Given the description of an element on the screen output the (x, y) to click on. 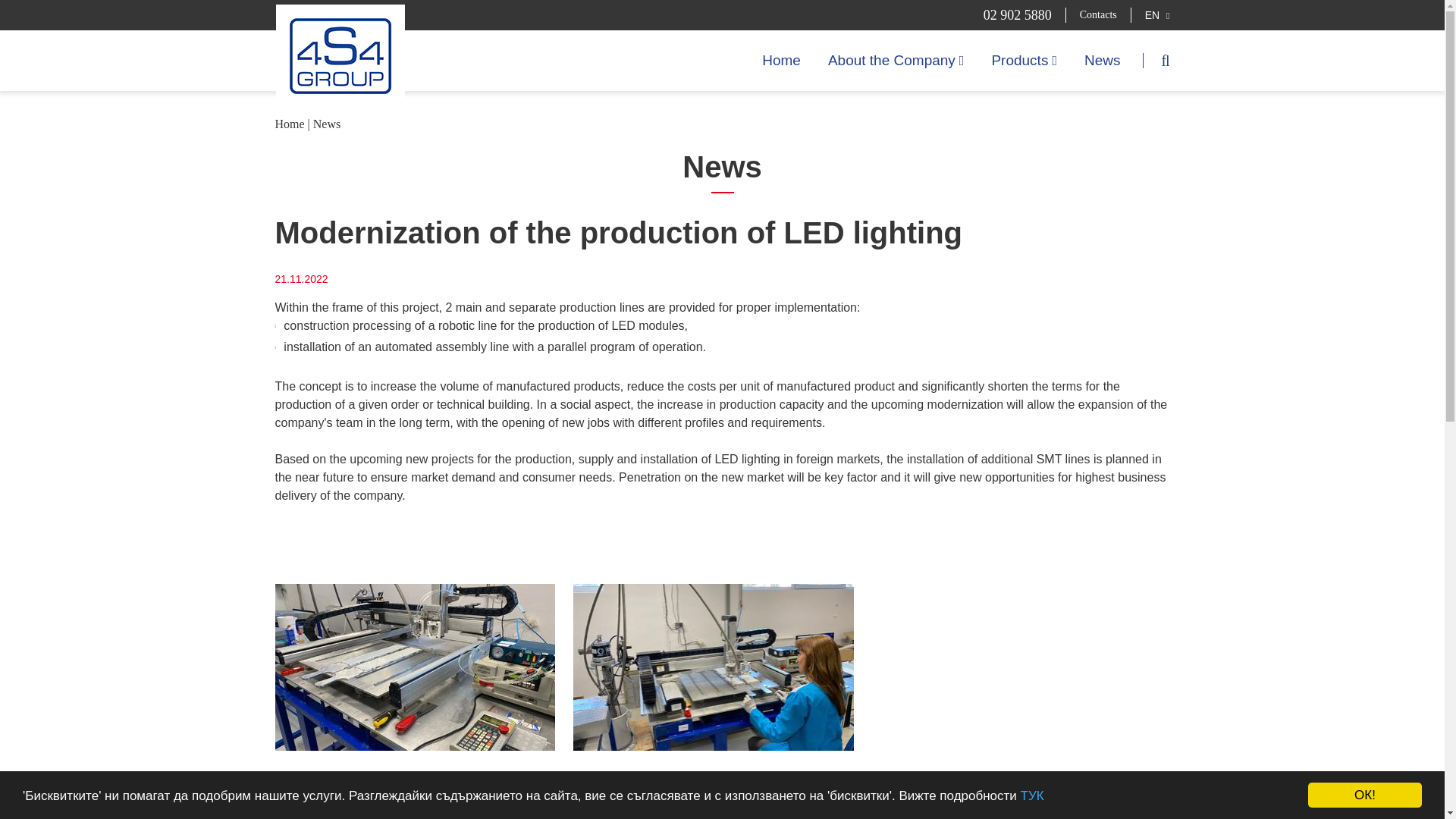
About the Company (895, 60)
02 902 5880 (1024, 14)
Products (1024, 60)
News (326, 123)
Contacts (1098, 14)
Home (781, 60)
News (1102, 60)
Home (289, 123)
